Given the description of an element on the screen output the (x, y) to click on. 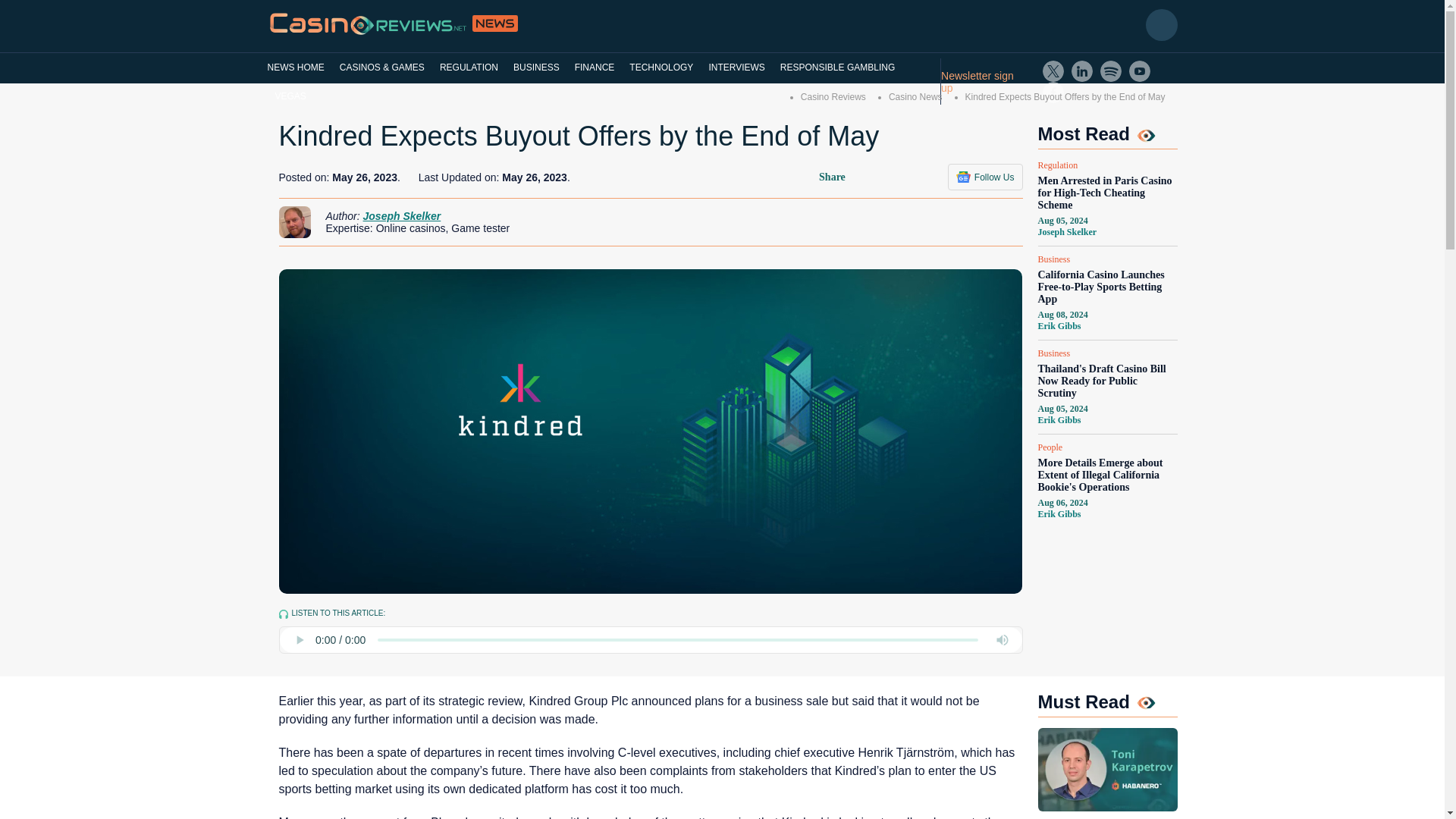
Erik Gibbs (1058, 513)
RESPONSIBLE GAMBLING (837, 67)
Spotify (1110, 70)
Joseph Skelker (1066, 231)
Casino News (915, 96)
INTERVIEWS (735, 67)
REGULATION (468, 67)
Men Arrested in Paris Casino for High-Tech Cheating Scheme (1106, 193)
TECHNOLOGY (660, 67)
FINANCE (595, 67)
